Given the description of an element on the screen output the (x, y) to click on. 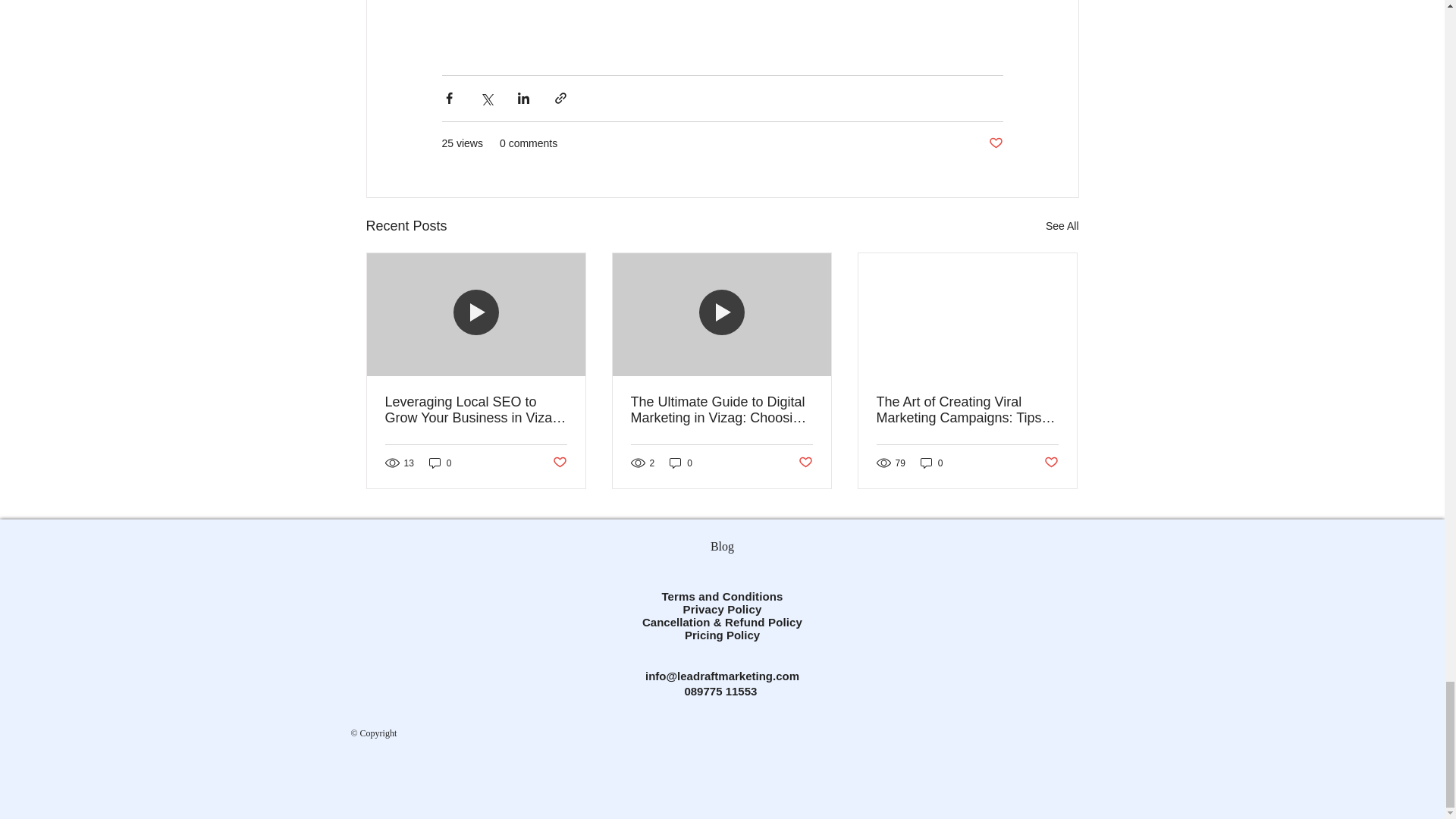
0 (440, 462)
Post not marked as liked (804, 462)
See All (1061, 226)
0 (931, 462)
Blog (722, 547)
0 (681, 462)
Privacy Policy (721, 608)
Terms and Conditions (722, 595)
Post not marked as liked (558, 462)
